Given the description of an element on the screen output the (x, y) to click on. 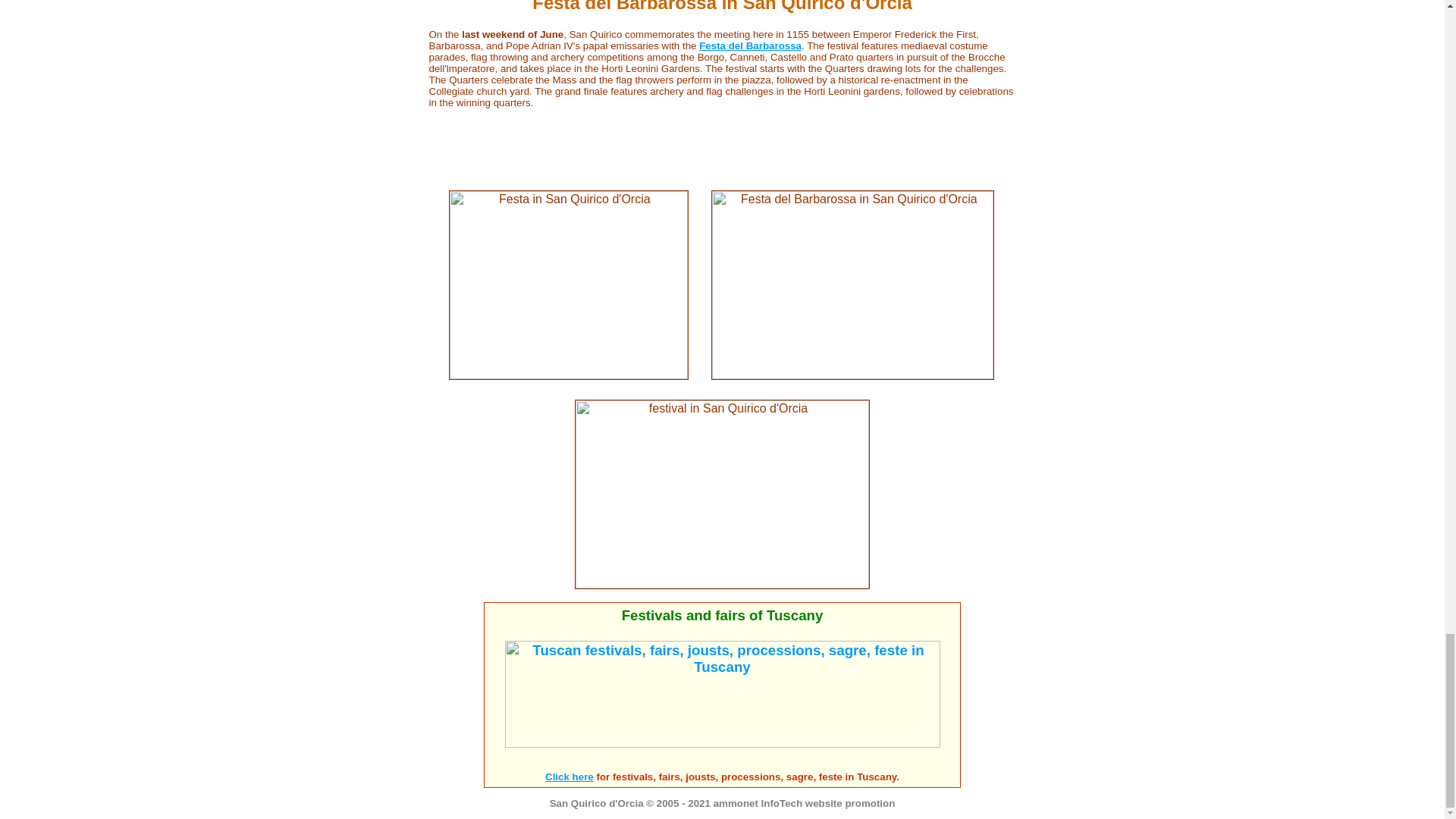
Festivals and fairs of Tuscany (722, 615)
ammonet InfoTech website promotion (804, 803)
Festa del Barbarossa (750, 45)
